Given the description of an element on the screen output the (x, y) to click on. 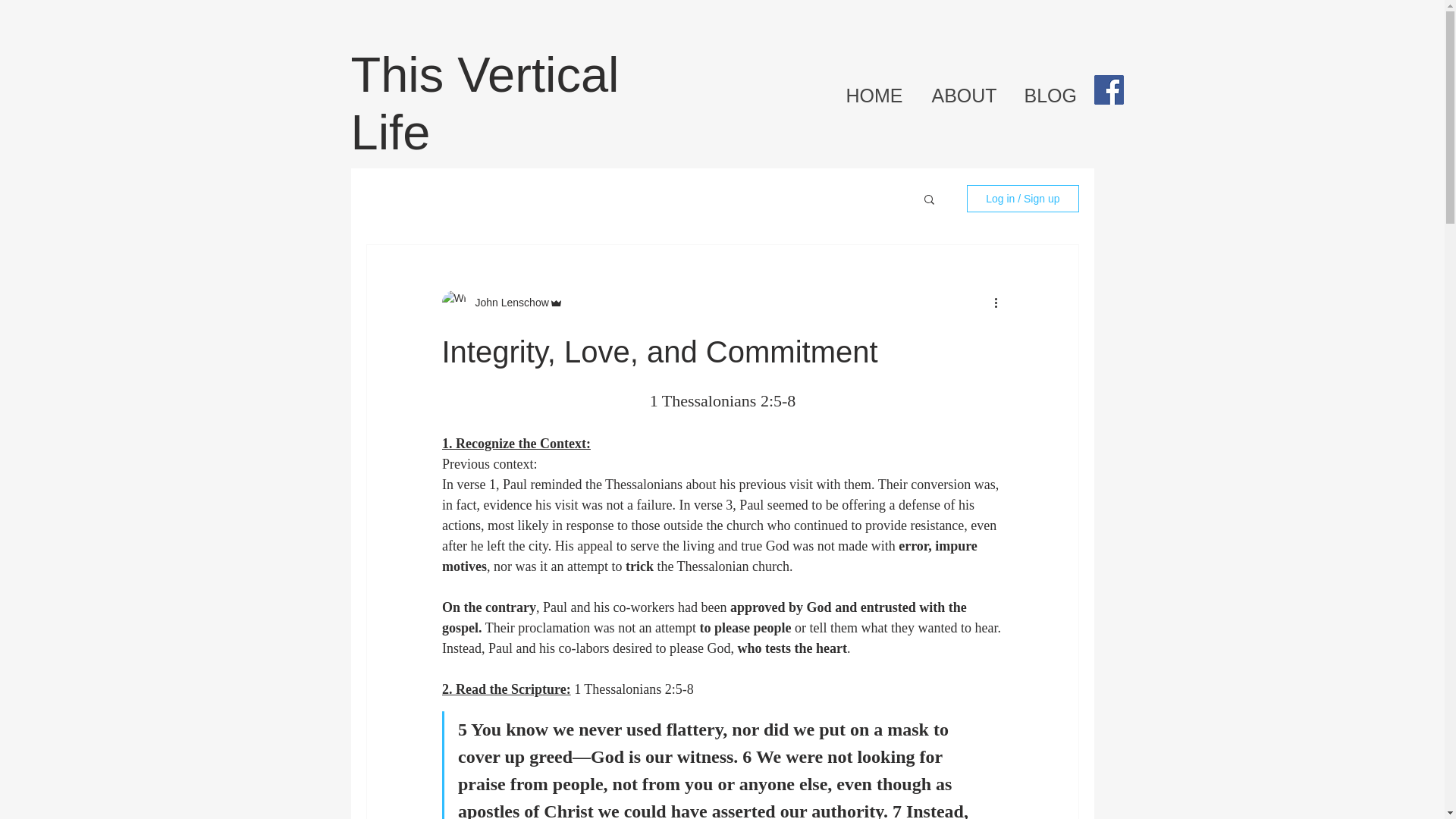
BLOG (1052, 95)
ABOUT (964, 95)
John Lenschow (506, 302)
HOME (876, 95)
